Given the description of an element on the screen output the (x, y) to click on. 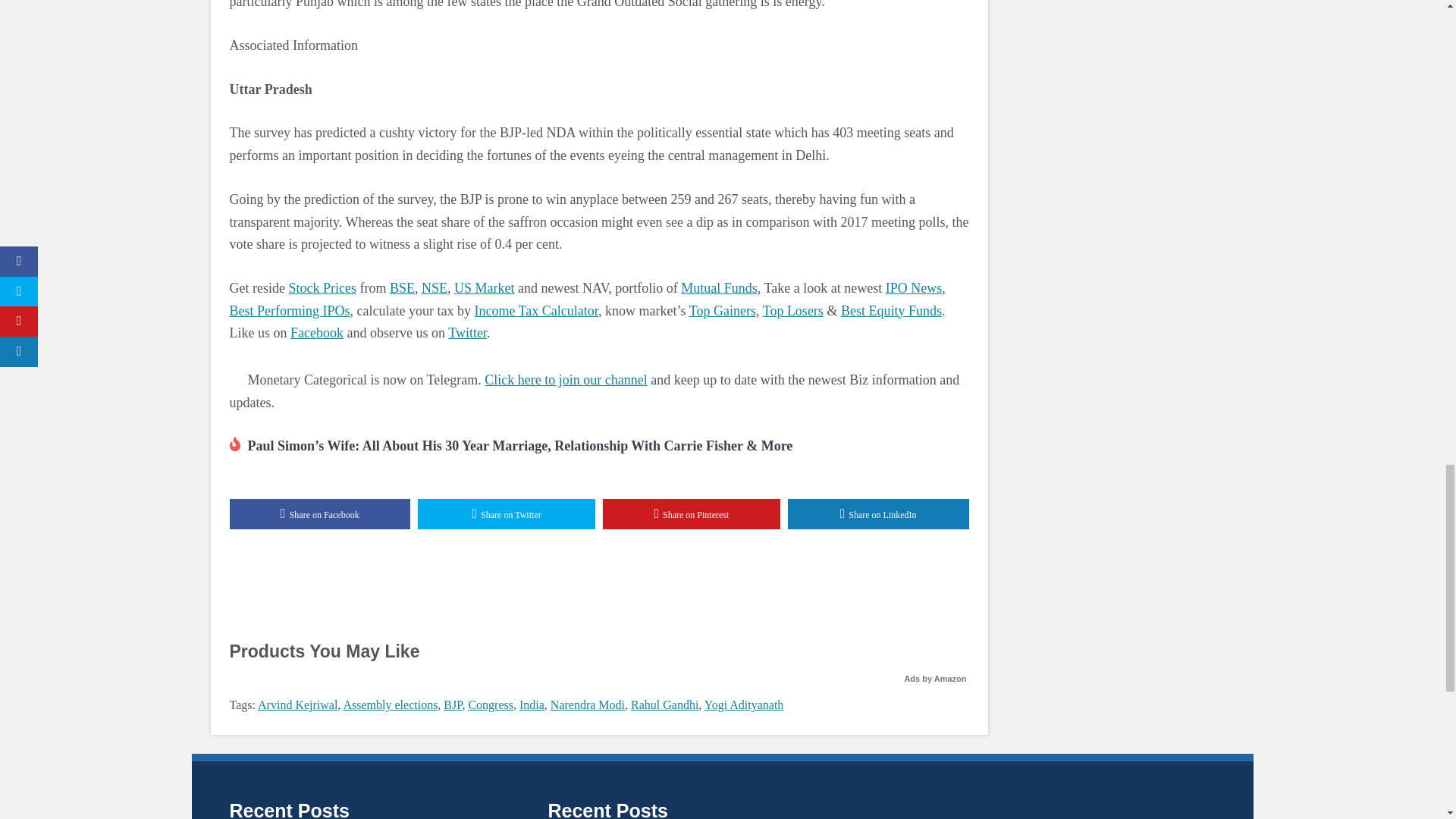
Stock Prices (322, 287)
